Given the description of an element on the screen output the (x, y) to click on. 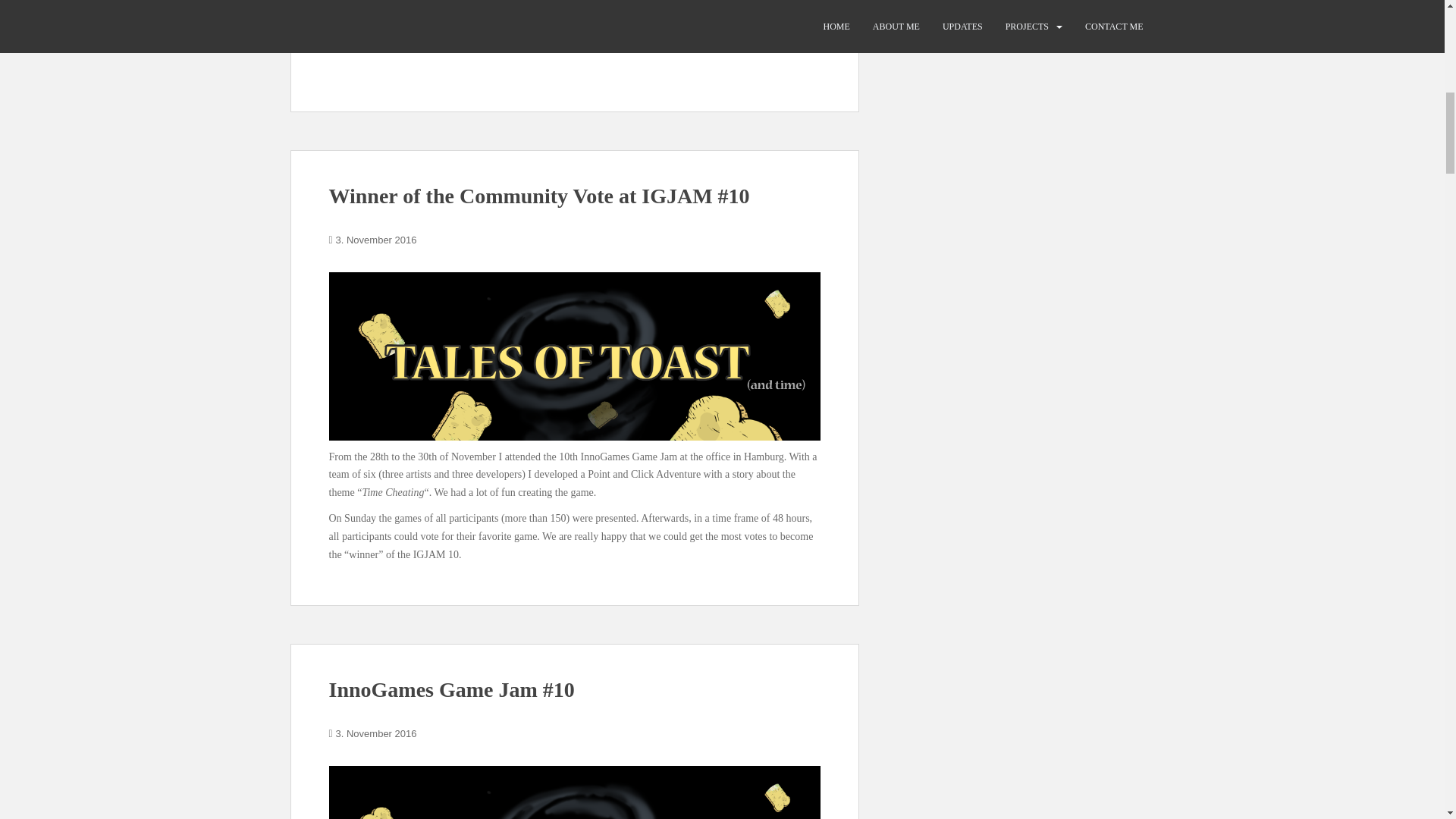
Windows (401, 9)
Linux (441, 9)
Global Game Jam Site (401, 34)
3. November 2016 (376, 239)
Android (509, 9)
OSX (473, 9)
3. November 2016 (376, 733)
